Given the description of an element on the screen output the (x, y) to click on. 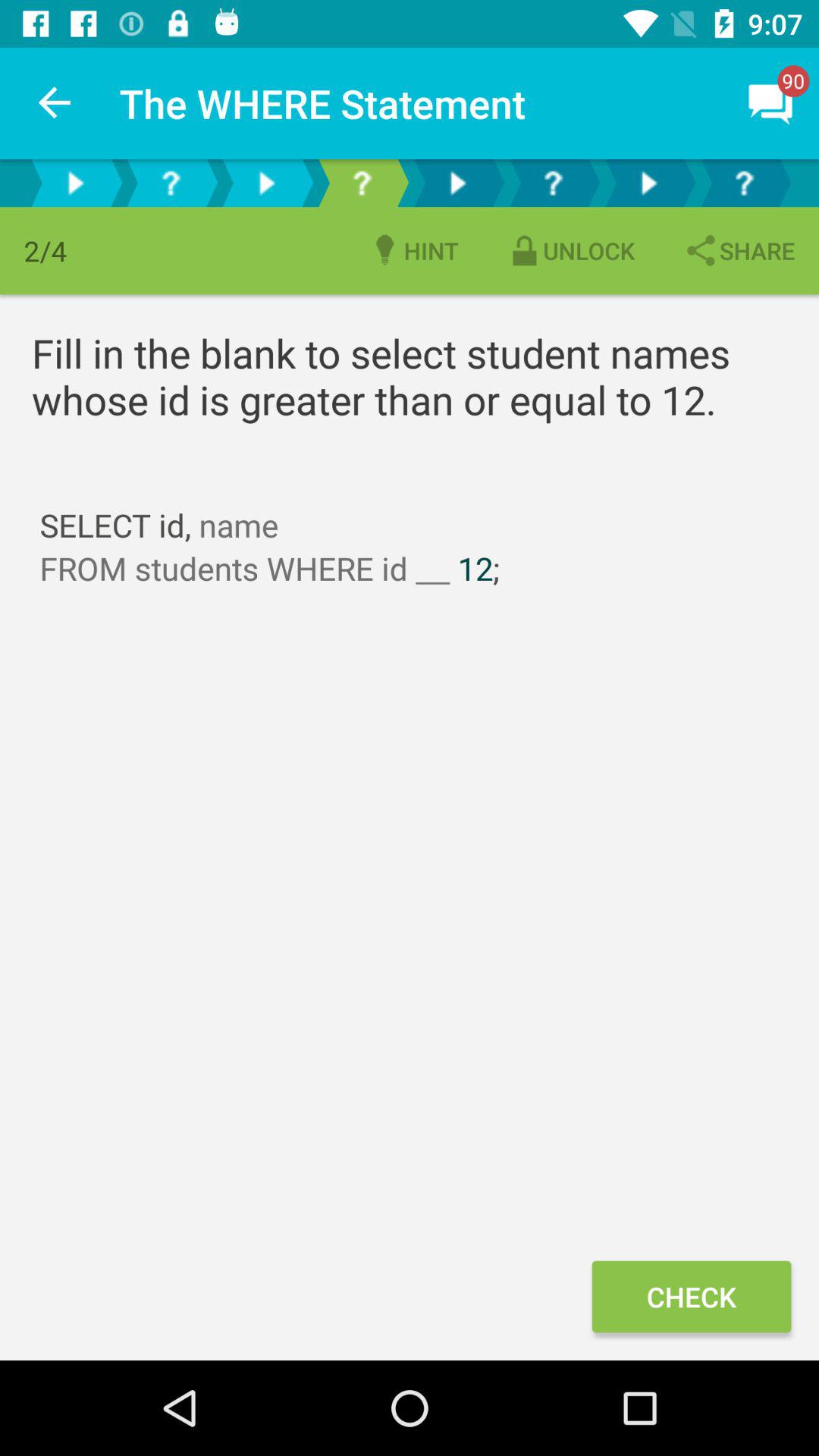
select help (743, 183)
